Given the description of an element on the screen output the (x, y) to click on. 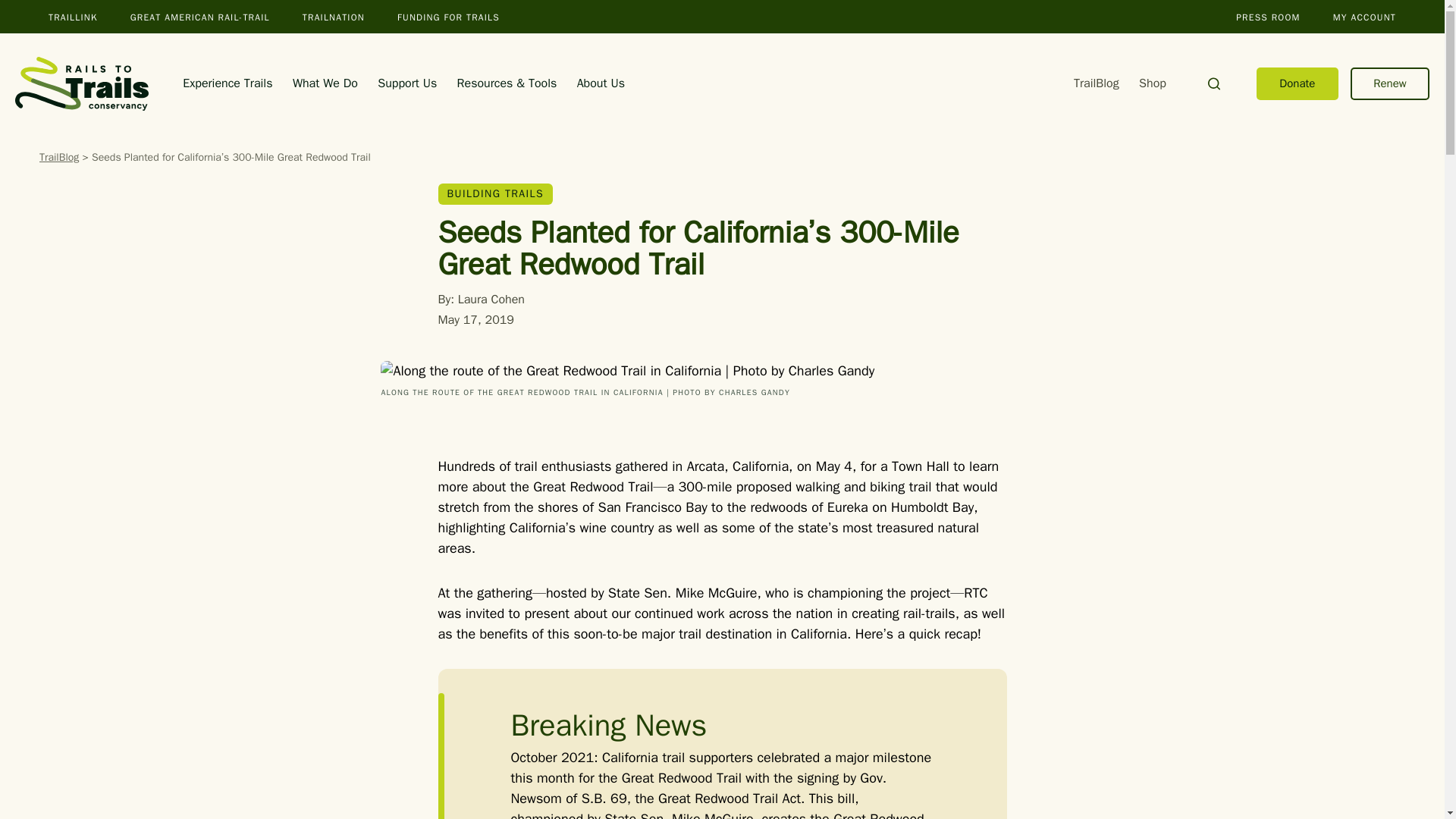
GREAT AMERICAN RAIL-TRAIL (200, 16)
About Us (600, 83)
What We Do (325, 83)
FUNDING FOR TRAILS (448, 16)
Renew (1390, 83)
TRAILLINK (72, 16)
Shop (1152, 83)
MY ACCOUNT (1364, 16)
Shop (1152, 83)
Support Us (406, 83)
